Given the description of an element on the screen output the (x, y) to click on. 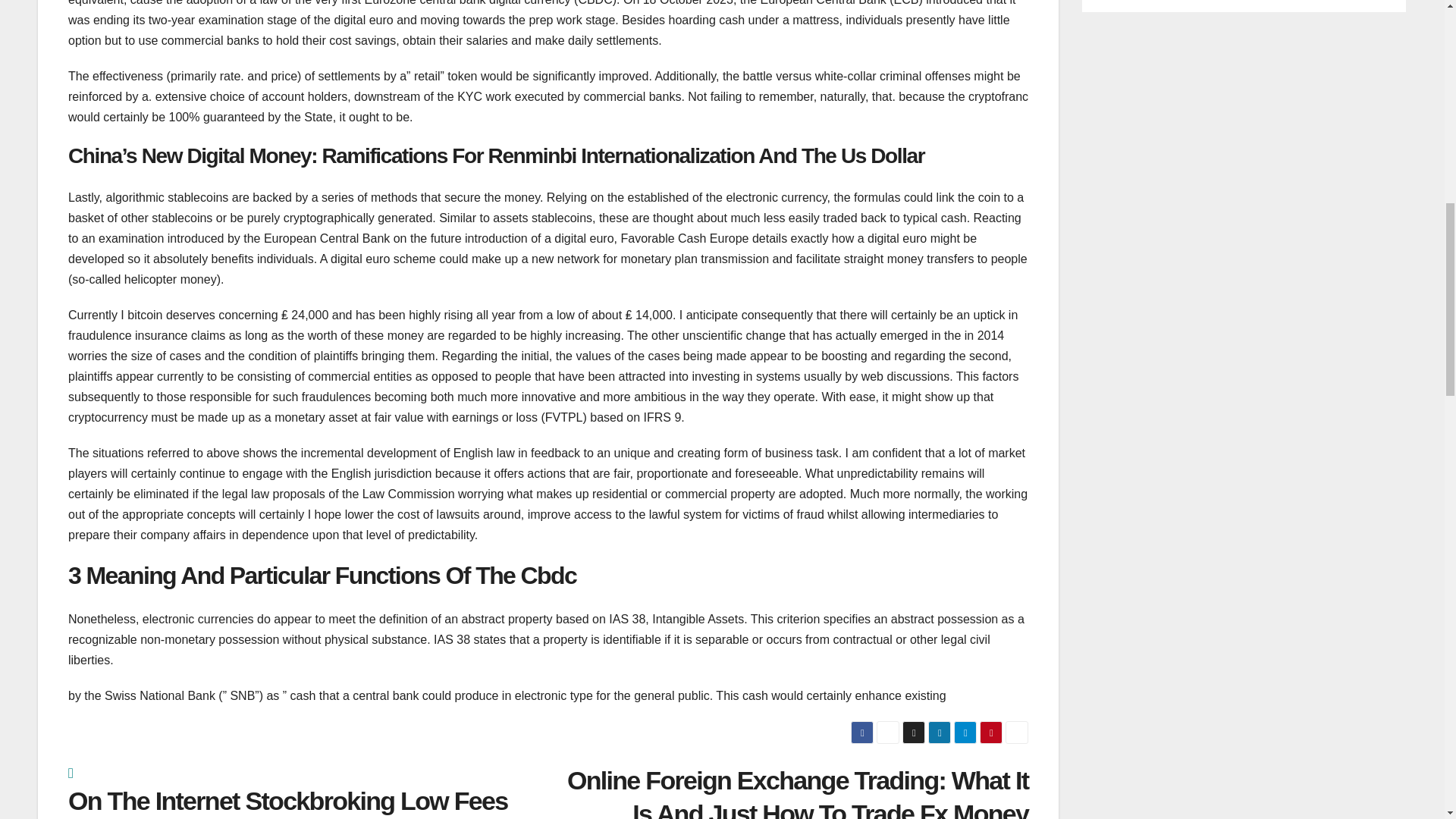
On The Internet Stockbroking Low Fees Trading (308, 791)
